Given the description of an element on the screen output the (x, y) to click on. 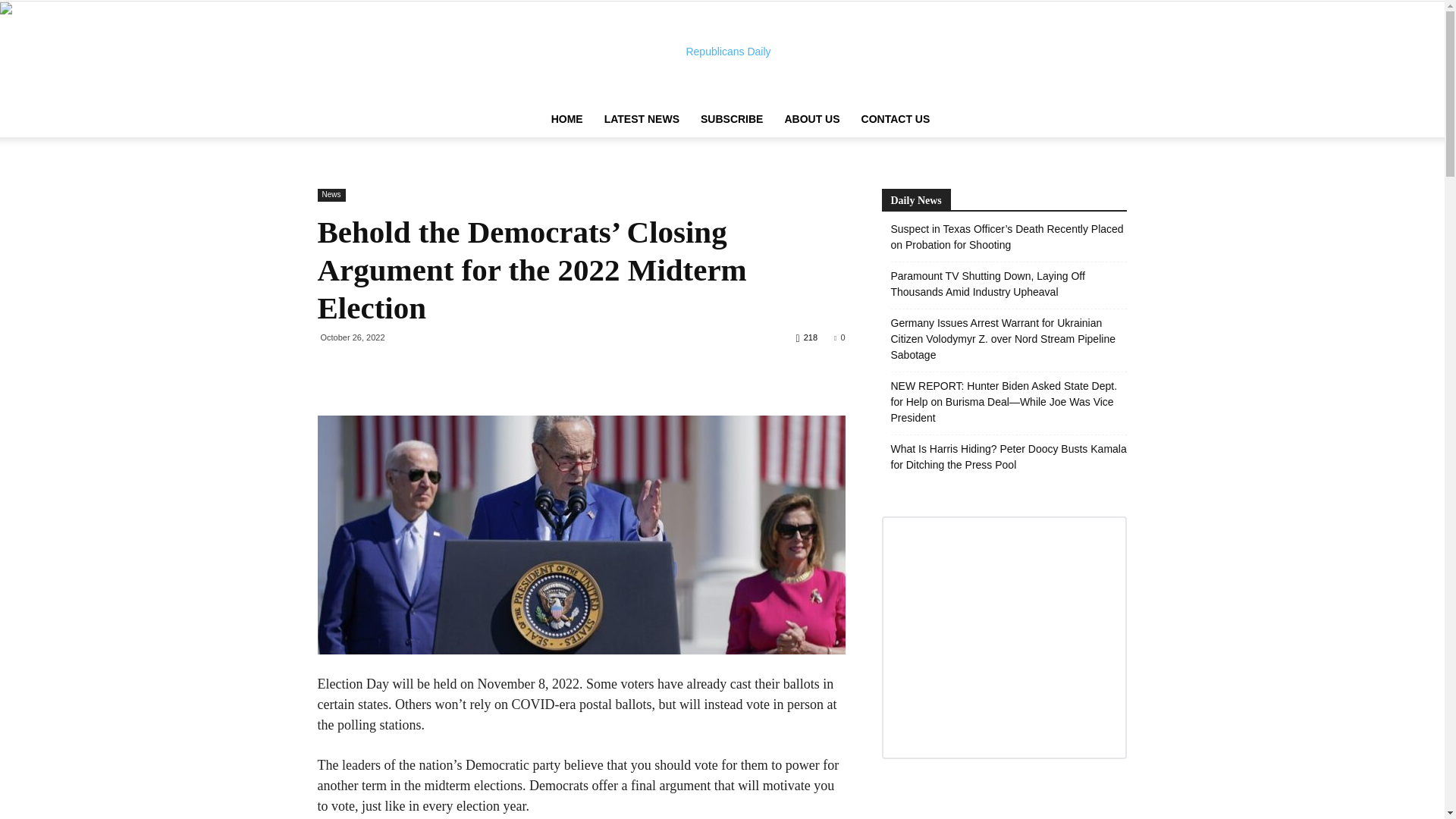
HOME (567, 118)
LATEST NEWS (642, 118)
ABOUT US (811, 118)
0 (839, 337)
CONTACT US (895, 118)
SUBSCRIBE (731, 118)
News (331, 195)
